Given the description of an element on the screen output the (x, y) to click on. 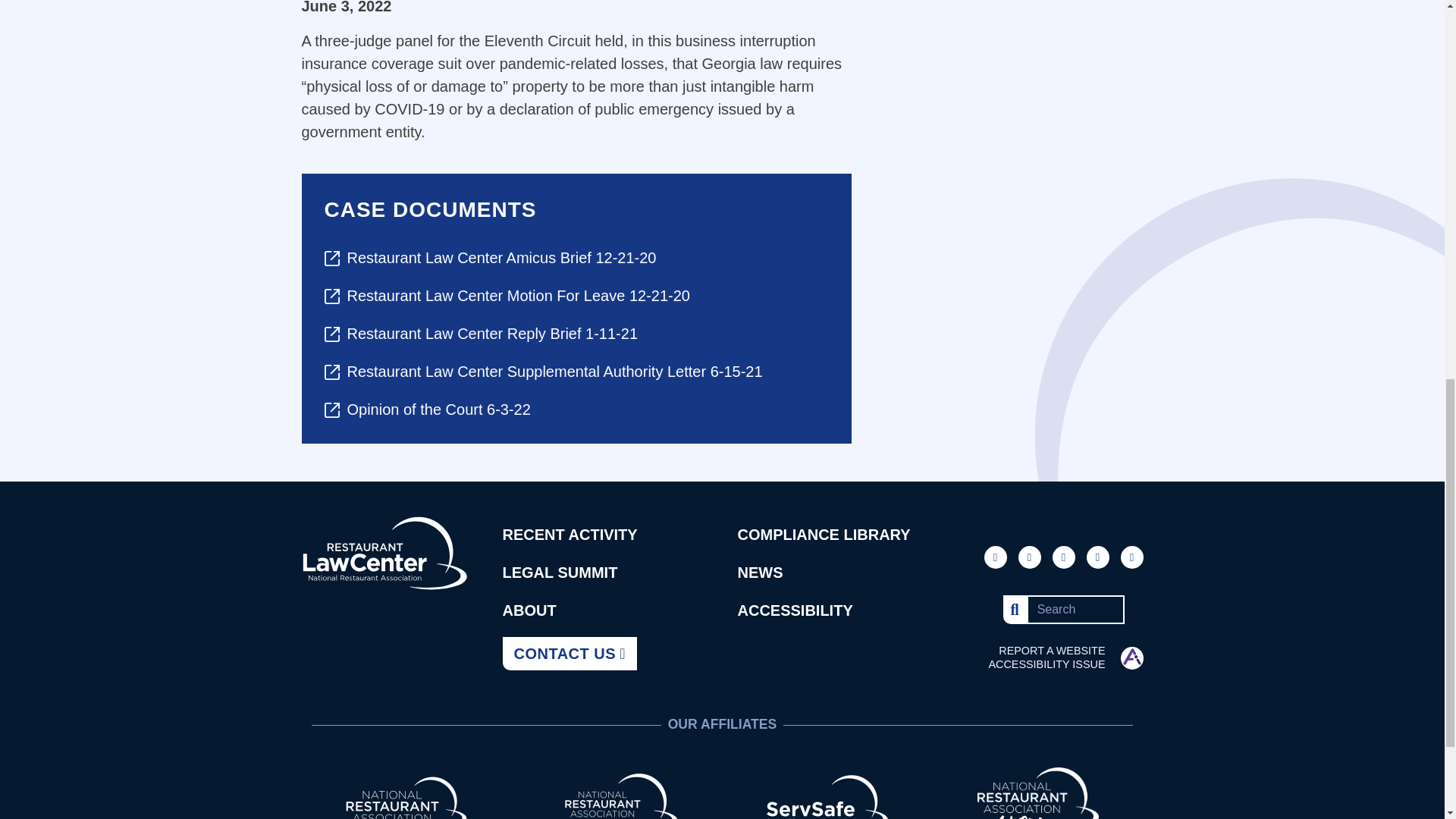
Restaurant Law Center Supplemental Authority Letter 6-15-21 (576, 371)
National Restaurant Association Educational Foundation (617, 800)
ServSafe (827, 800)
National Restaurant Association Show 2021 (1037, 800)
ABOUT (529, 610)
Opinion of the Court 6-3-22 (576, 409)
Restaurant Law Center Reply Brief 1-11-21 (576, 333)
NEWS (759, 572)
Restaurant Law Center Amicus Brief 12-21-20 (576, 257)
RECENT ACTIVITY (569, 534)
Restaurant Law Center Motion For Leave 12-21-20 (576, 295)
ACCESSIBILITY (793, 610)
COMPLIANCE LIBRARY (823, 534)
National Restaurant Association (406, 800)
LEGAL SUMMIT (559, 572)
